Given the description of an element on the screen output the (x, y) to click on. 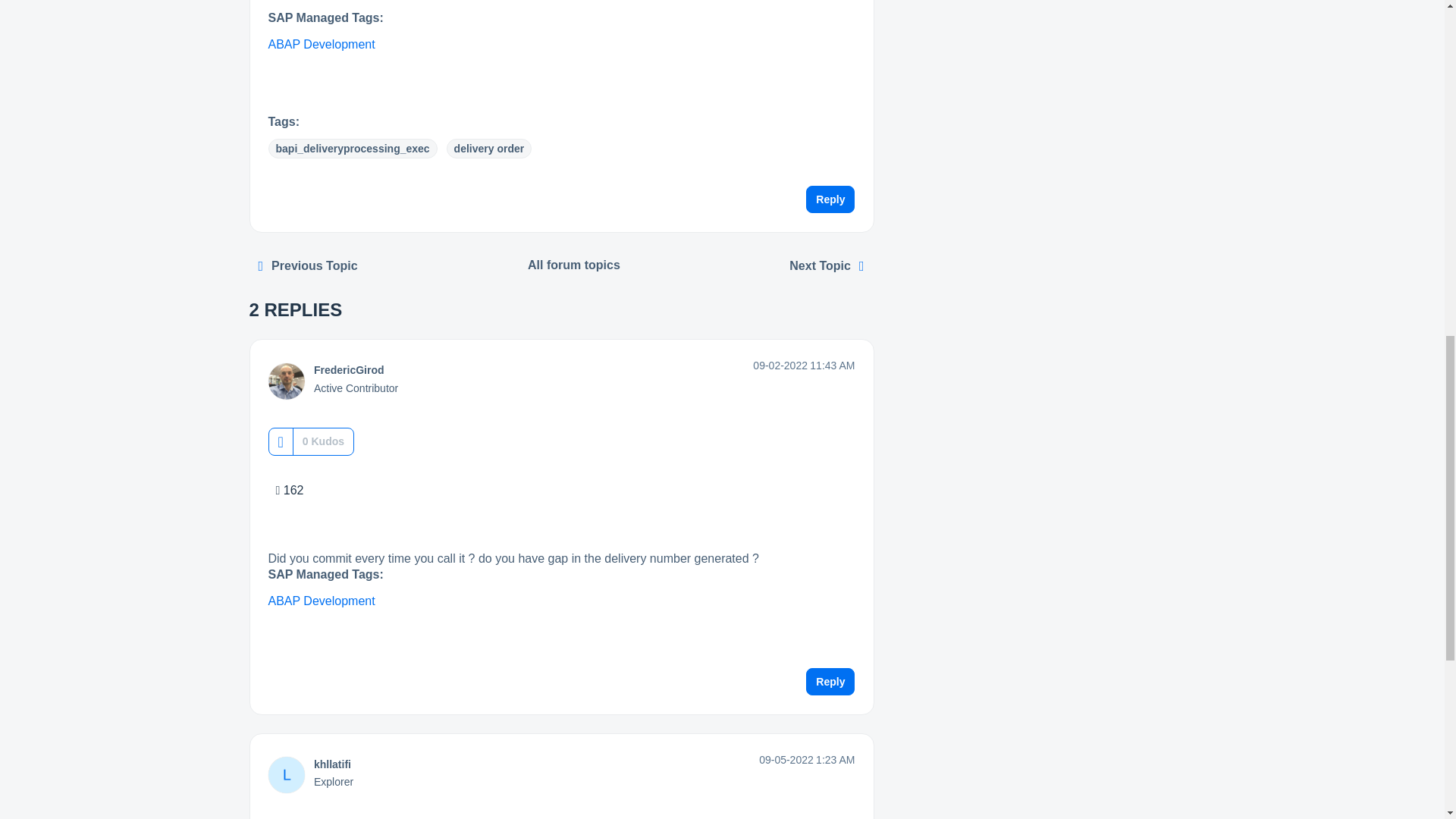
FredericGirod (349, 370)
Previous Topic (308, 266)
Application Development Discussions (574, 265)
ABAP Development (321, 44)
Next Topic (825, 266)
How To Display Data Of One Row In a Table ? (308, 266)
delivery order (489, 148)
All forum topics (574, 265)
Reply (830, 199)
